Given the description of an element on the screen output the (x, y) to click on. 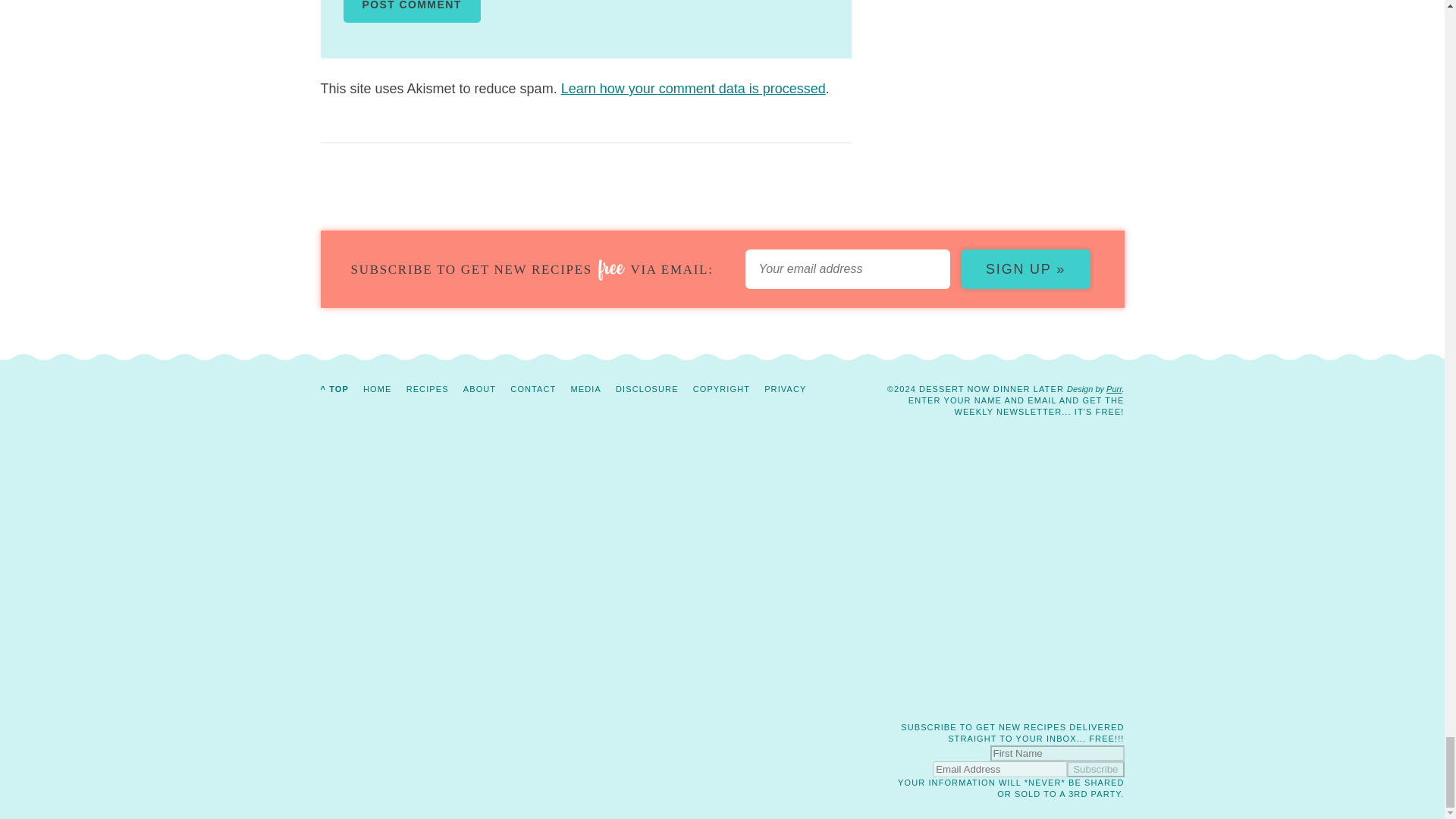
Post Comment (411, 11)
Subscribe (1095, 769)
